Given the description of an element on the screen output the (x, y) to click on. 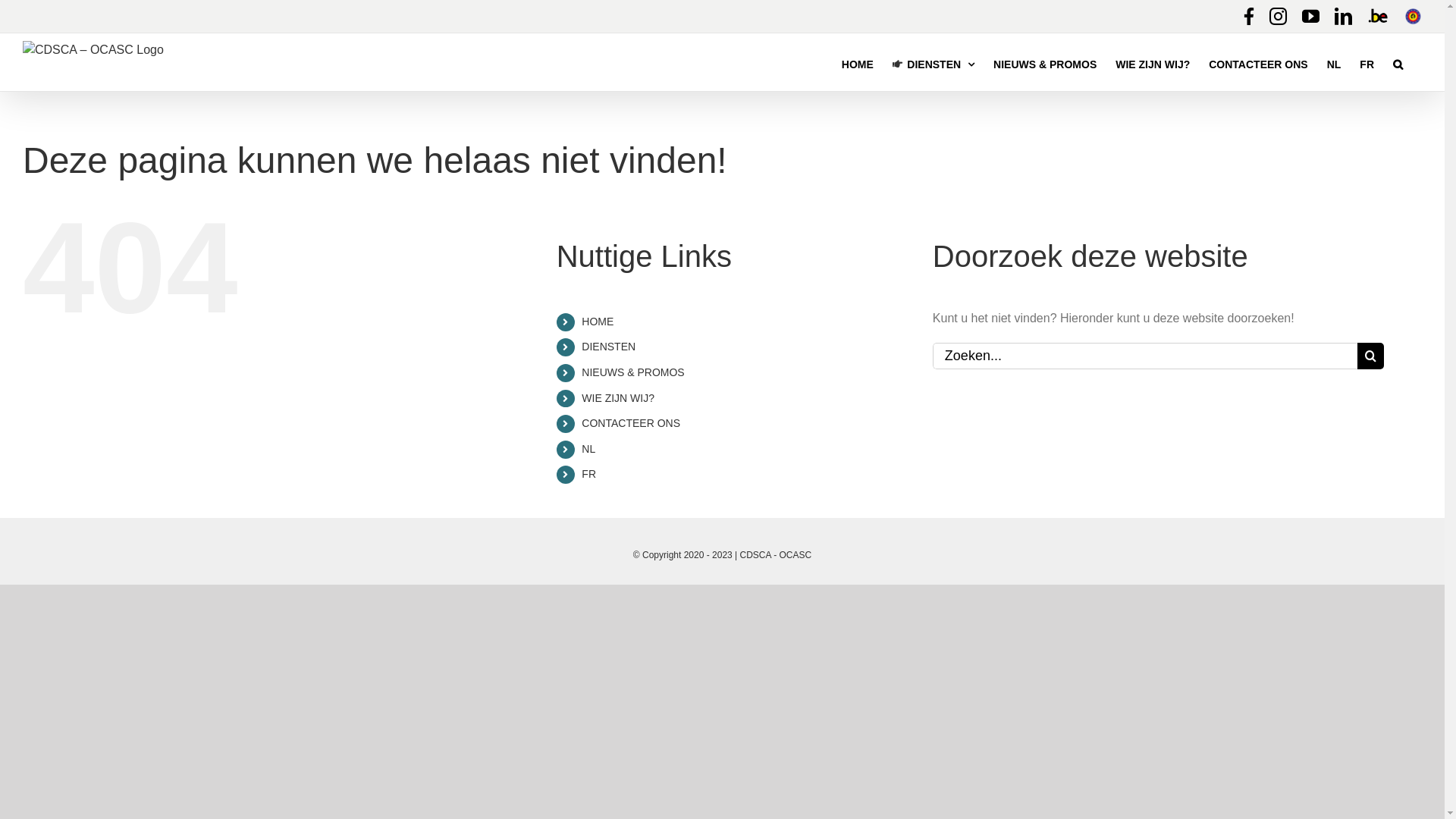
DIENSTEN Element type: text (608, 346)
WIE ZIJN WIJ? Element type: text (1152, 64)
NIEUWS & PROMOS Element type: text (632, 372)
Instagram Element type: text (1277, 16)
Belgium Element type: text (1377, 16)
CONTACTEER ONS Element type: text (1257, 64)
NL Element type: text (588, 448)
Zoeken Element type: hover (1397, 64)
NL Element type: text (1334, 64)
Facebook Element type: text (1248, 16)
DIENSTEN Element type: text (933, 64)
NIEUWS & PROMOS Element type: text (1044, 64)
CONTACTEER ONS Element type: text (630, 423)
LinkedIn Element type: text (1343, 16)
Defence Element type: text (1412, 16)
WIE ZIJN WIJ? Element type: text (617, 398)
HOME Element type: text (857, 64)
HOME Element type: text (597, 321)
FR Element type: text (1366, 64)
YouTube Element type: text (1310, 16)
FR Element type: text (588, 473)
